Given the description of an element on the screen output the (x, y) to click on. 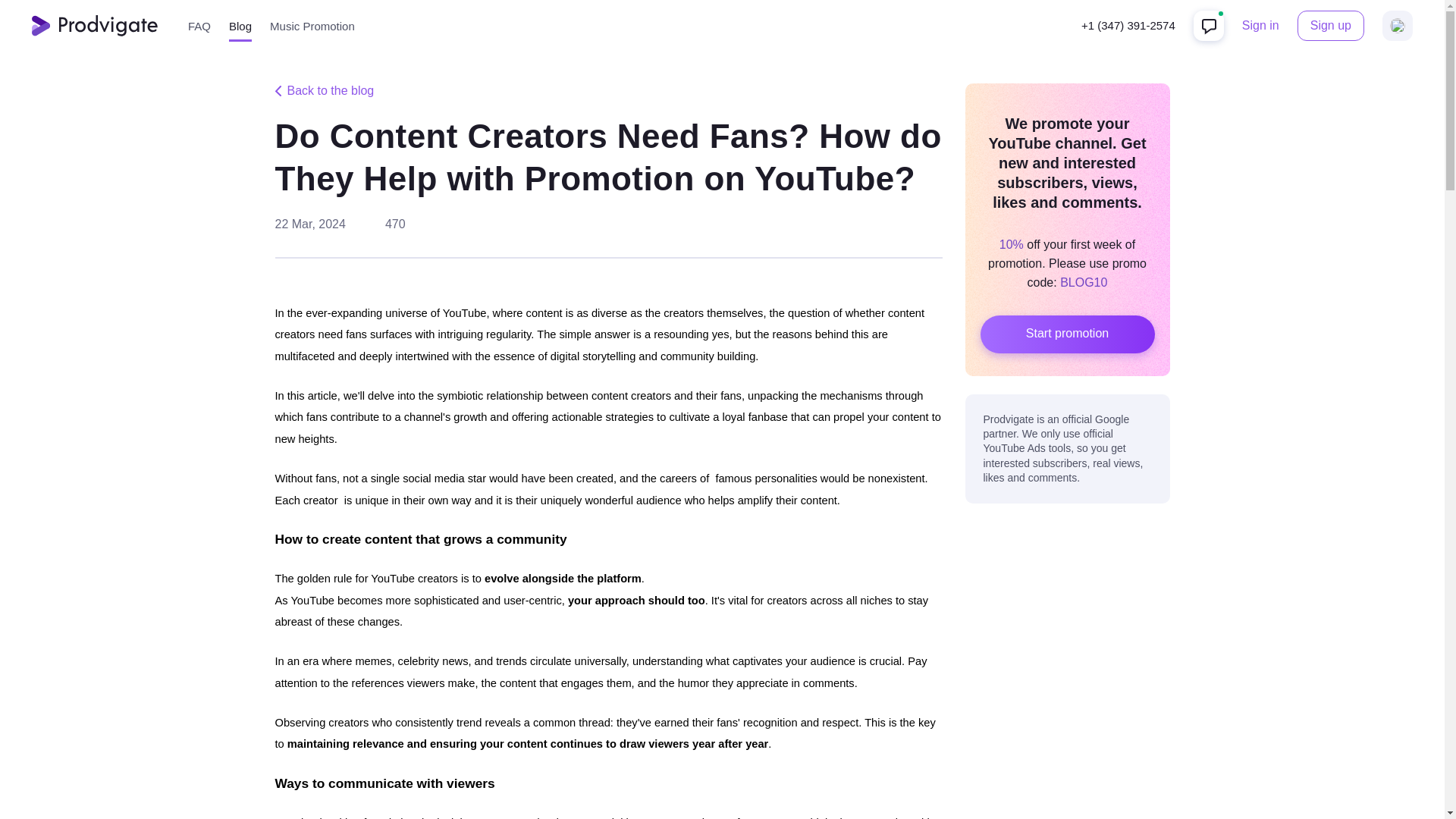
Music Promotion (312, 26)
Sign up (1330, 25)
Support (1208, 25)
Sign in (1260, 25)
Prodvigate (94, 25)
Back to the blog (324, 90)
FAQ (199, 26)
Blog (239, 26)
Start promotion (1066, 333)
